Given the description of an element on the screen output the (x, y) to click on. 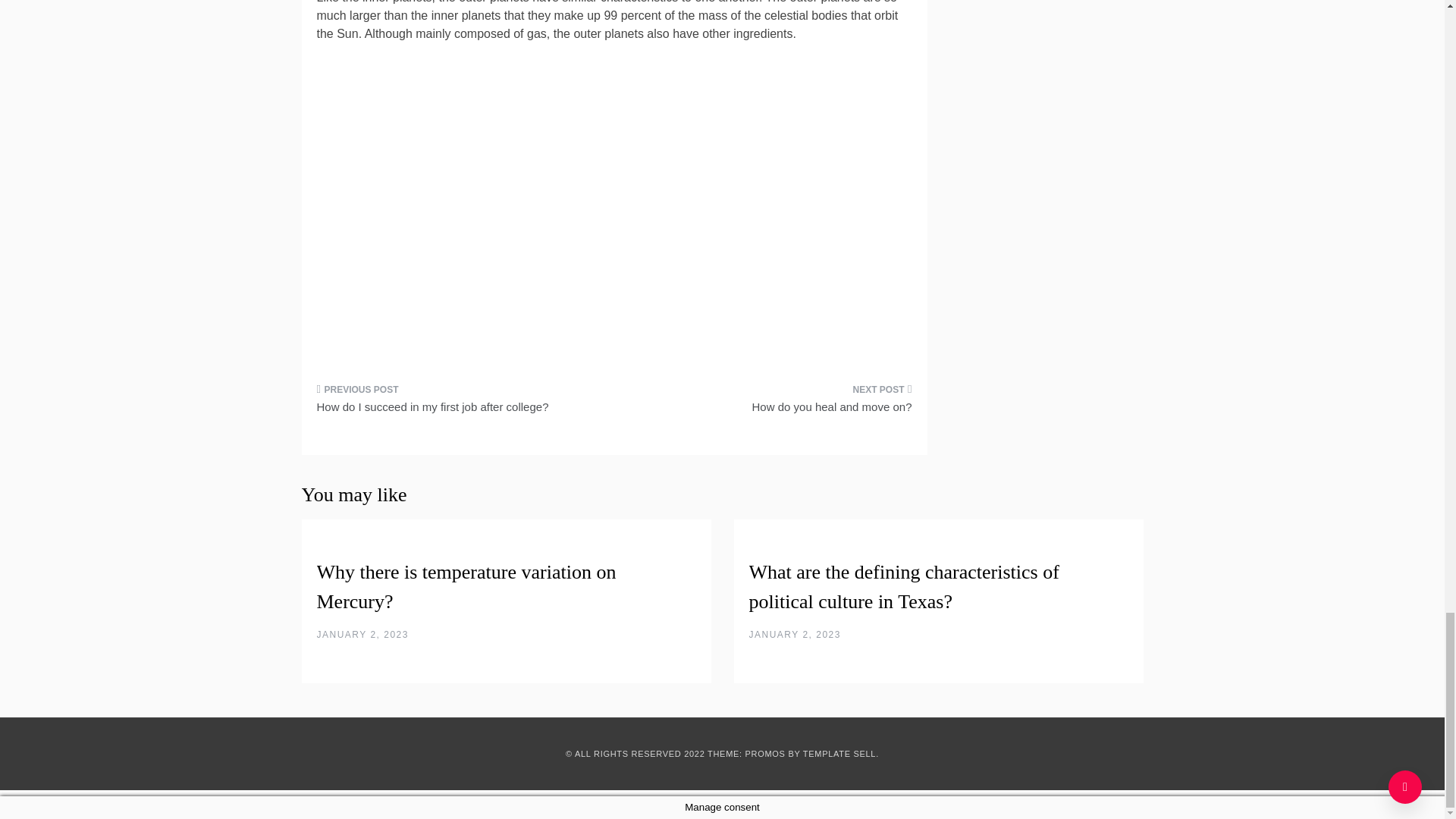
How do you heal and move on? (769, 403)
How do I succeed in my first job after college? (460, 403)
